Given the description of an element on the screen output the (x, y) to click on. 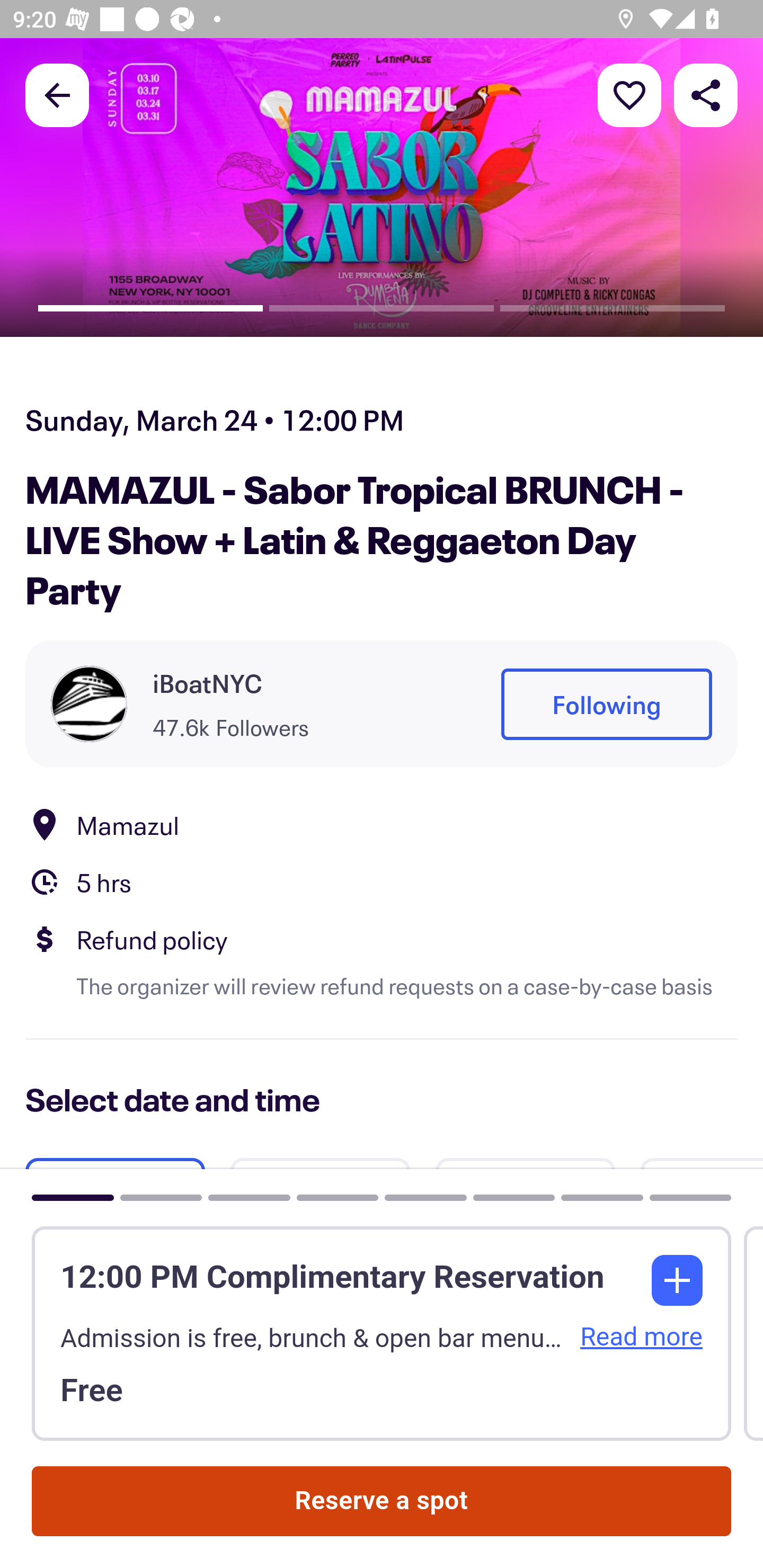
Back (57, 94)
More (629, 94)
Share (705, 94)
iBoatNYC (207, 682)
Organizer profile picture (89, 703)
Following (606, 704)
Location Mamazul (381, 824)
